Given the description of an element on the screen output the (x, y) to click on. 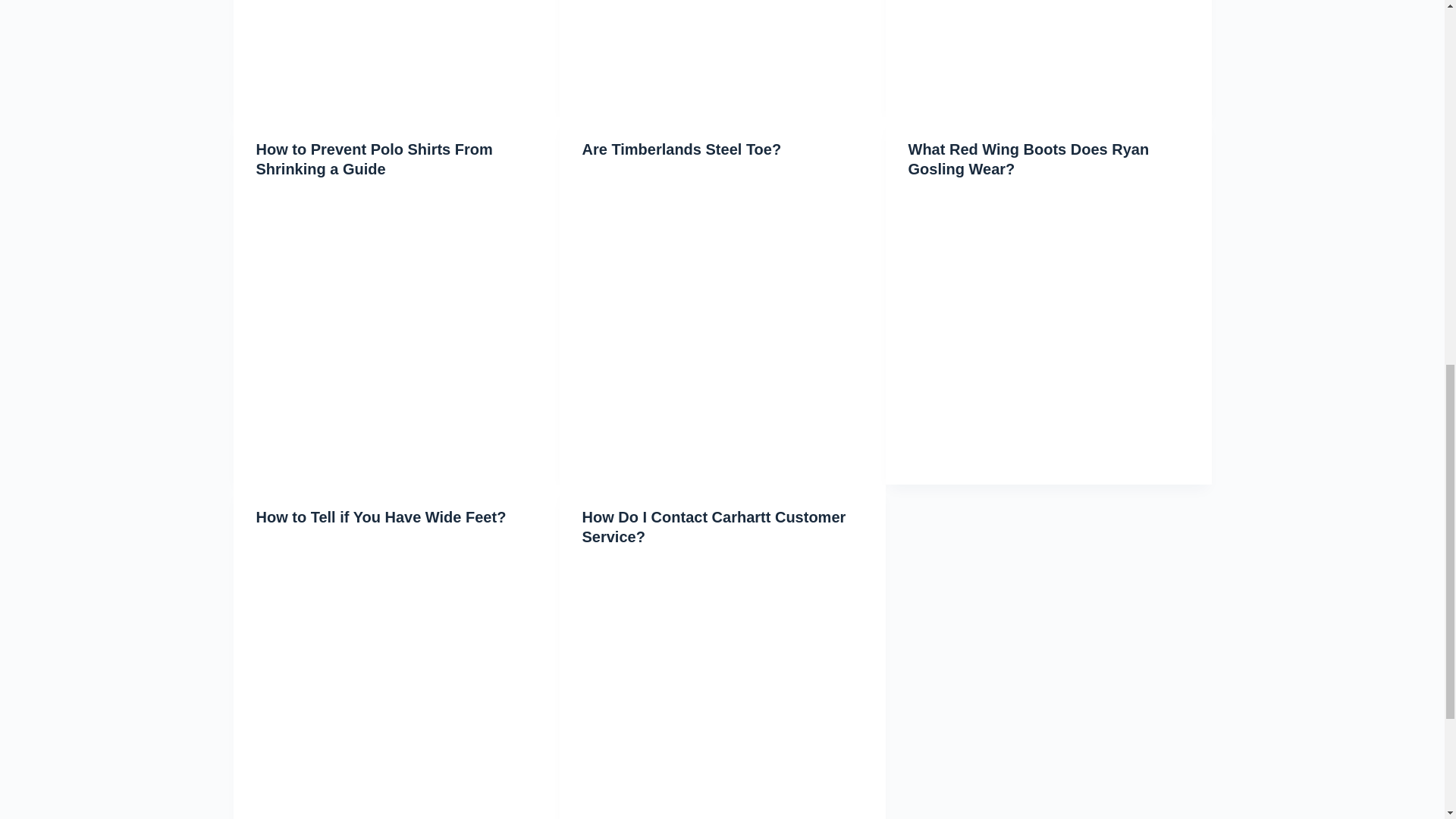
How Do I Contact Carhartt Customer Service? (713, 525)
What Red Wing Boots Does Ryan Gosling Wear? (1029, 158)
Are Timberlands Steel Toe? (681, 149)
How to Tell if You Have Wide Feet? (381, 515)
How to Prevent Polo Shirts From Shrinking a Guide (374, 158)
